Given the description of an element on the screen output the (x, y) to click on. 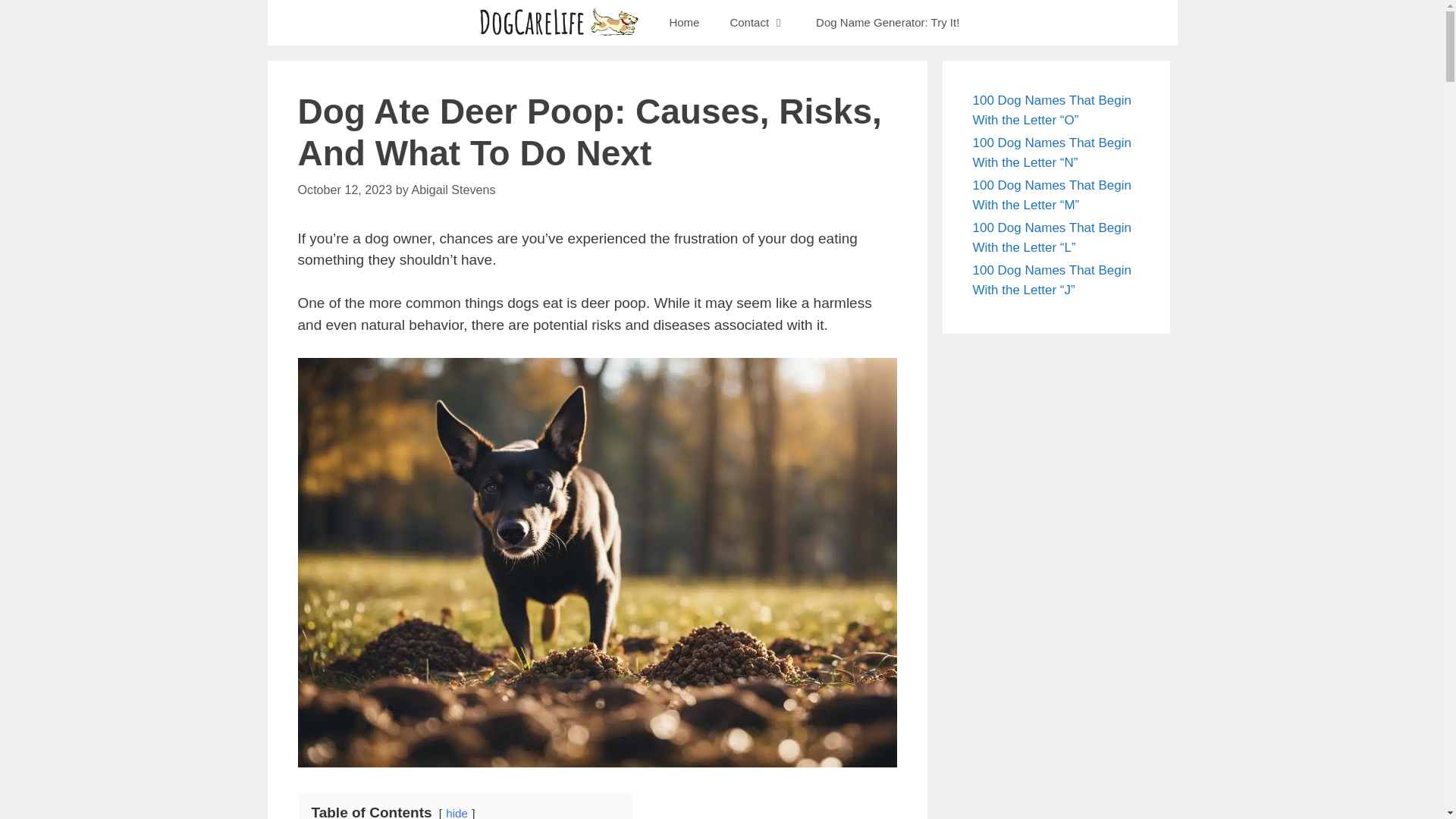
hide (456, 812)
Contact (757, 22)
DogCareLife (561, 22)
Dog Name Generator: Try It! (887, 22)
DogCareLife (558, 22)
View all posts by Abigail Stevens (452, 189)
Abigail Stevens (452, 189)
Home (683, 22)
